Given the description of an element on the screen output the (x, y) to click on. 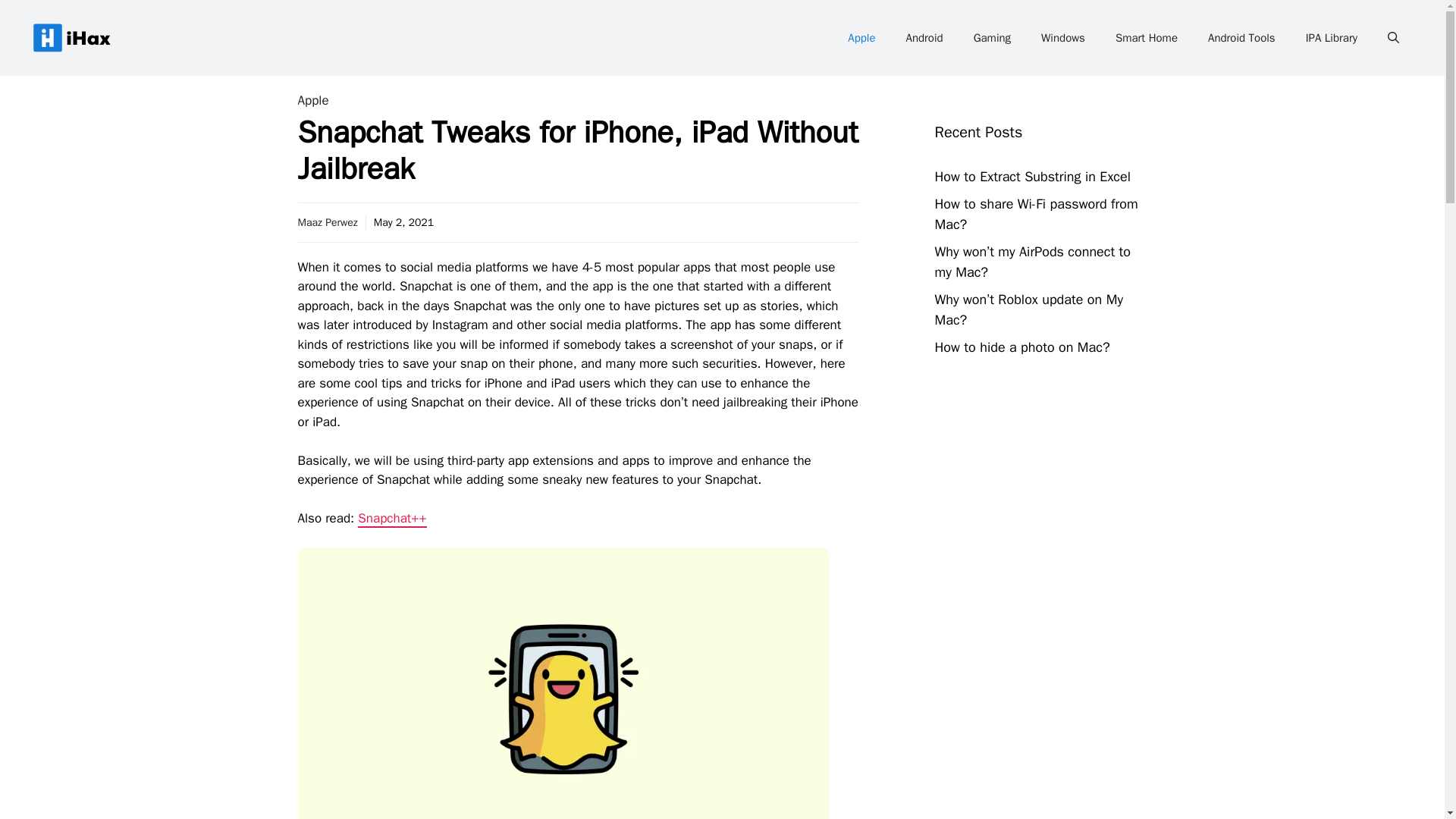
Apple (860, 37)
Apple (313, 100)
Windows (1063, 37)
Android (923, 37)
Smart Home (1146, 37)
How to hide a photo on Mac? (1021, 347)
IPA Library (1331, 37)
Android Tools (1241, 37)
Maaz Perwez (326, 221)
Gaming (992, 37)
How to Extract Substring in Excel (1031, 176)
How to share Wi-Fi password from Mac? (1035, 213)
